Given the description of an element on the screen output the (x, y) to click on. 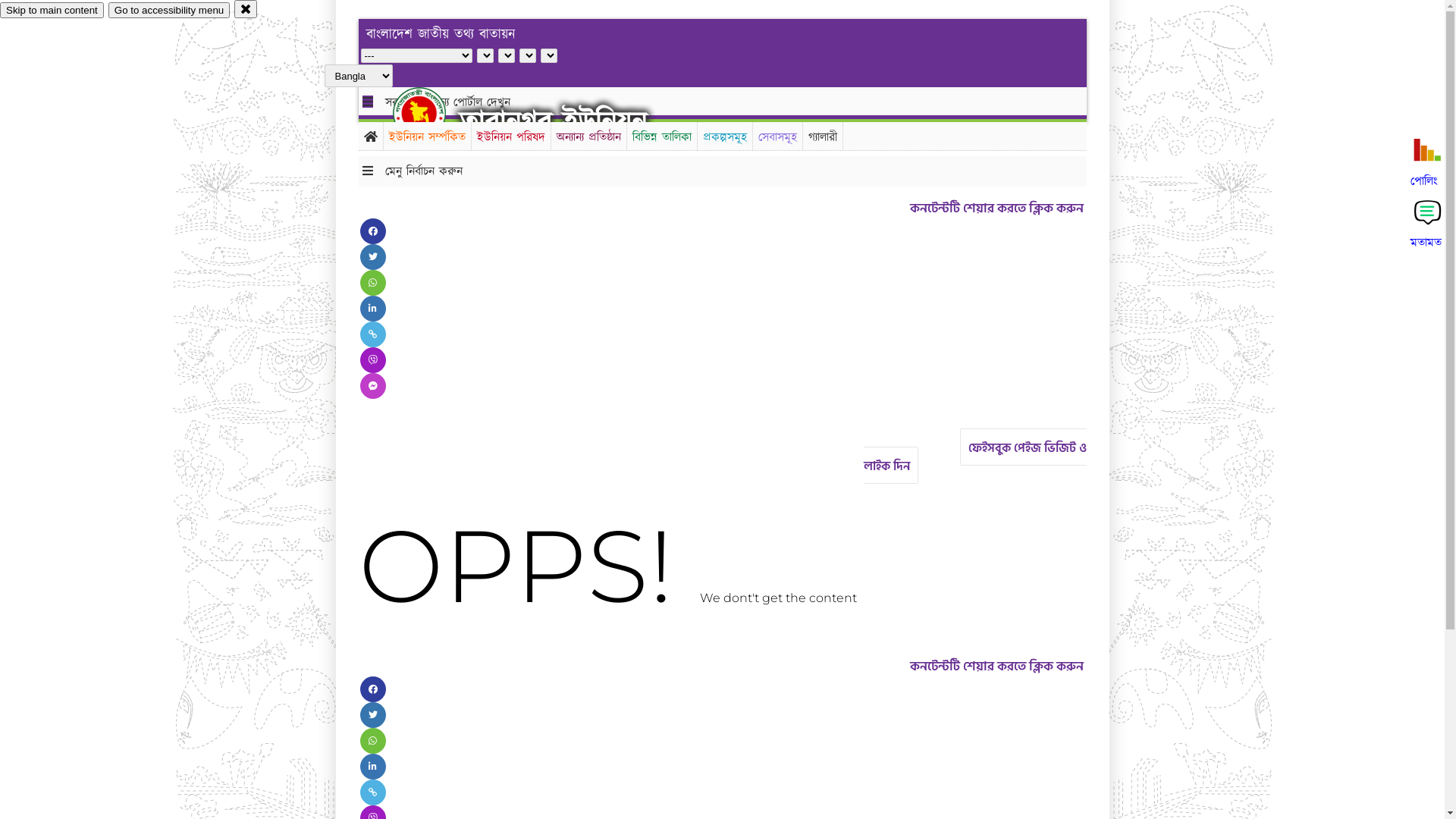

                
             Element type: hover (431, 112)
Skip to main content Element type: text (51, 10)
Go to accessibility menu Element type: text (168, 10)
close Element type: hover (245, 9)
